Given the description of an element on the screen output the (x, y) to click on. 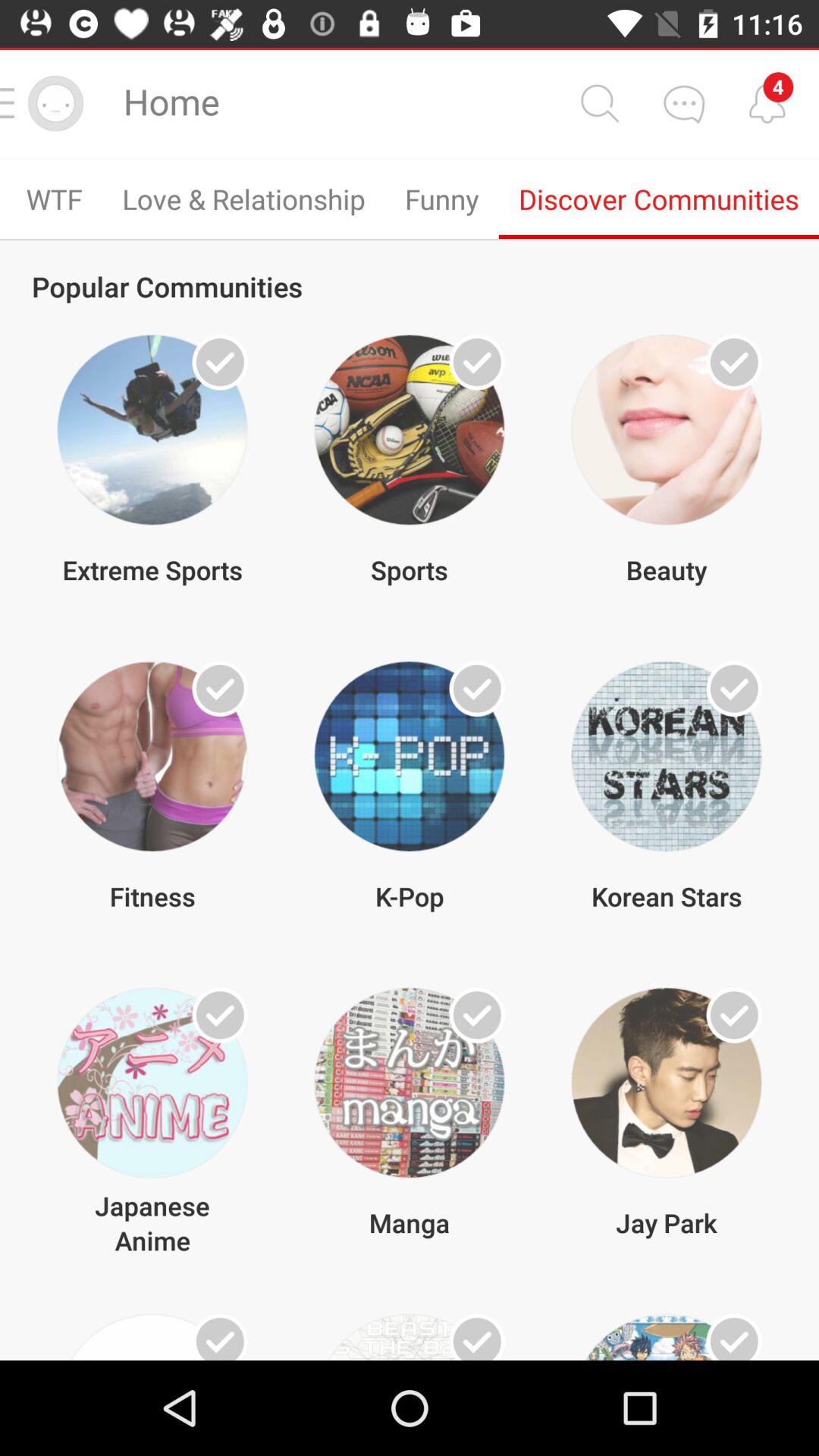
select korean stars community (734, 688)
